Given the description of an element on the screen output the (x, y) to click on. 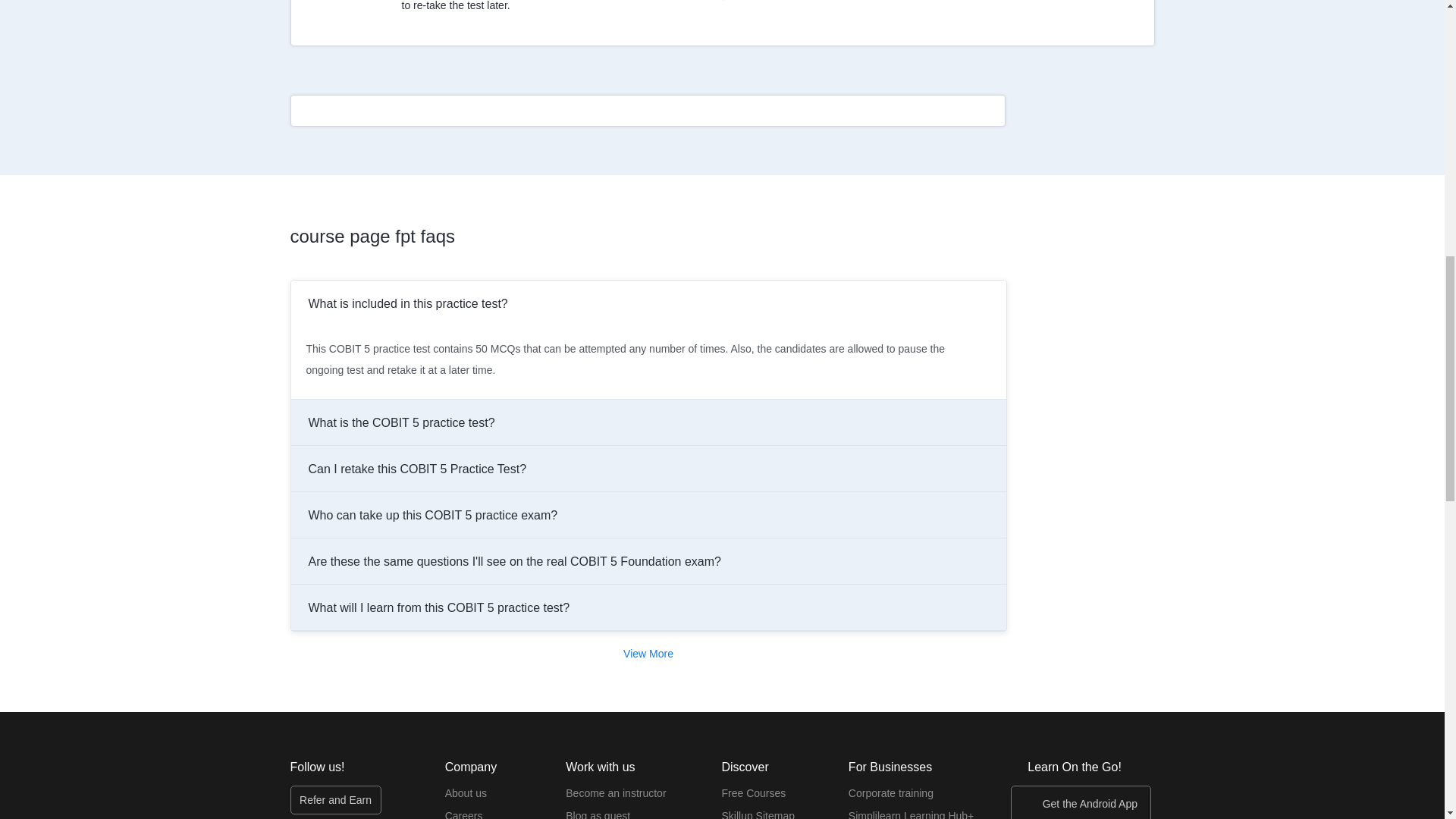
what will i learn from this cobit 5 practice test? (648, 606)
what is included in this practice test? (648, 302)
what is the cobit 5 practice test? (648, 422)
can i retake this cobit 5 practice test? (648, 468)
who can take up this cobit 5 practice exam? (648, 514)
